Given the description of an element on the screen output the (x, y) to click on. 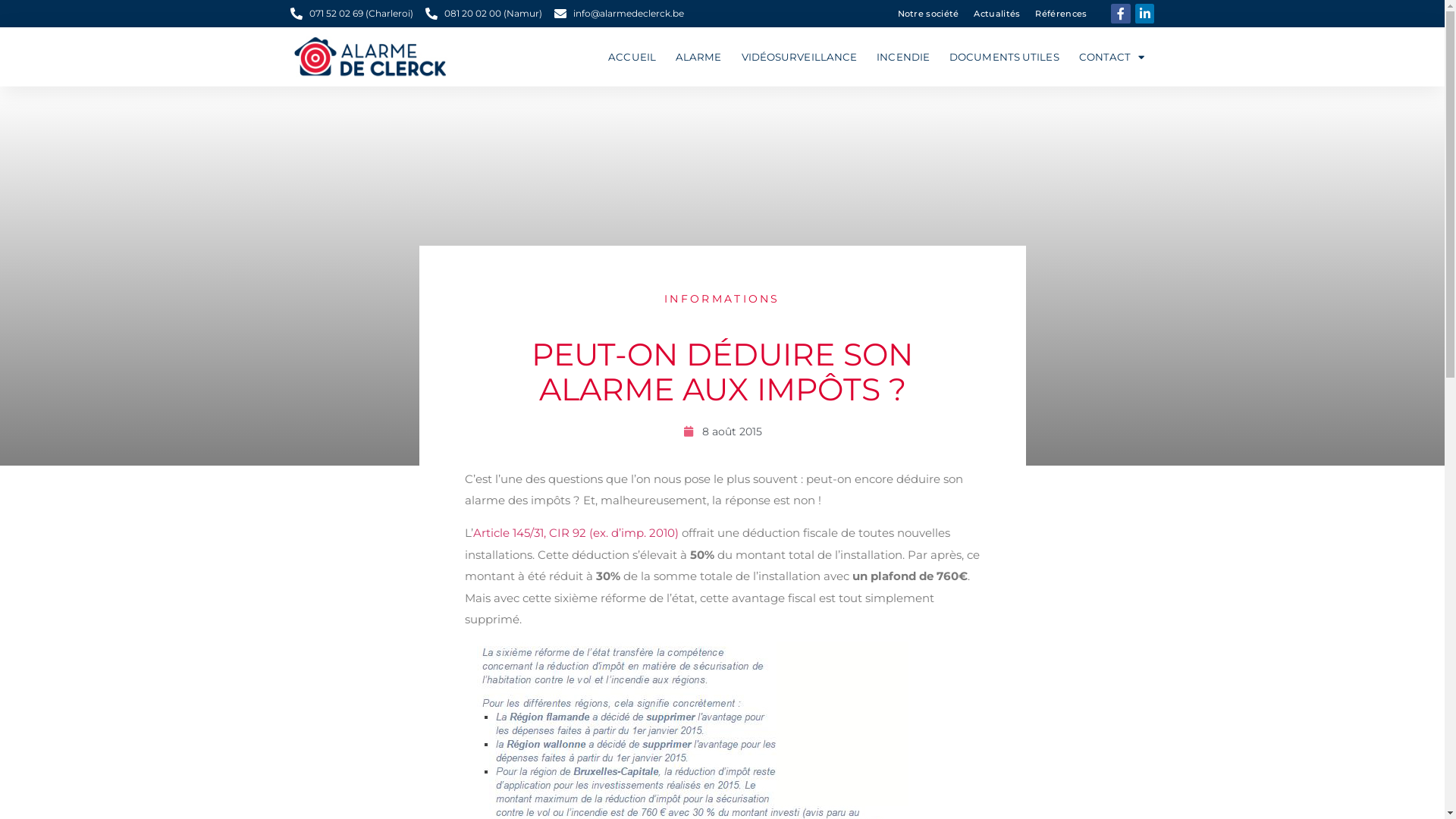
071 52 02 69 (Charleroi) Element type: text (350, 13)
ALARME Element type: text (698, 56)
INCENDIE Element type: text (902, 56)
081 20 02 00 (Namur) Element type: text (482, 13)
ACCUEIL Element type: text (631, 56)
CONTACT Element type: text (1111, 56)
INFORMATIONS Element type: text (722, 298)
DOCUMENTS UTILES Element type: text (1004, 56)
info@alarmedeclerck.be Element type: text (618, 13)
